Given the description of an element on the screen output the (x, y) to click on. 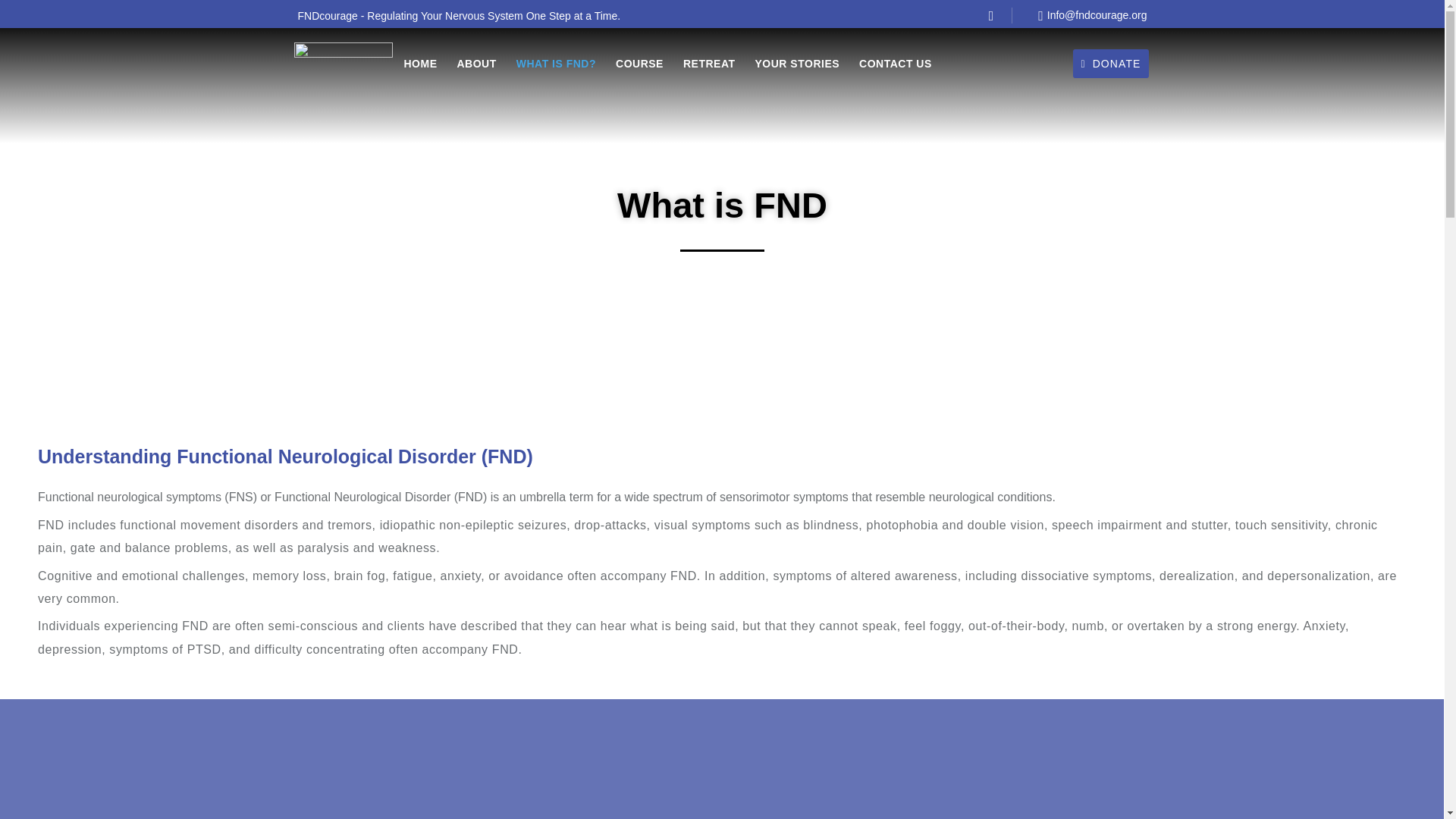
WHAT IS FND? (555, 63)
COURSE (639, 63)
CONTACT US (895, 63)
DONATE (1110, 63)
ABOUT (475, 63)
YOUR STORIES (797, 63)
HOME (419, 63)
RETREAT (708, 63)
